Given the description of an element on the screen output the (x, y) to click on. 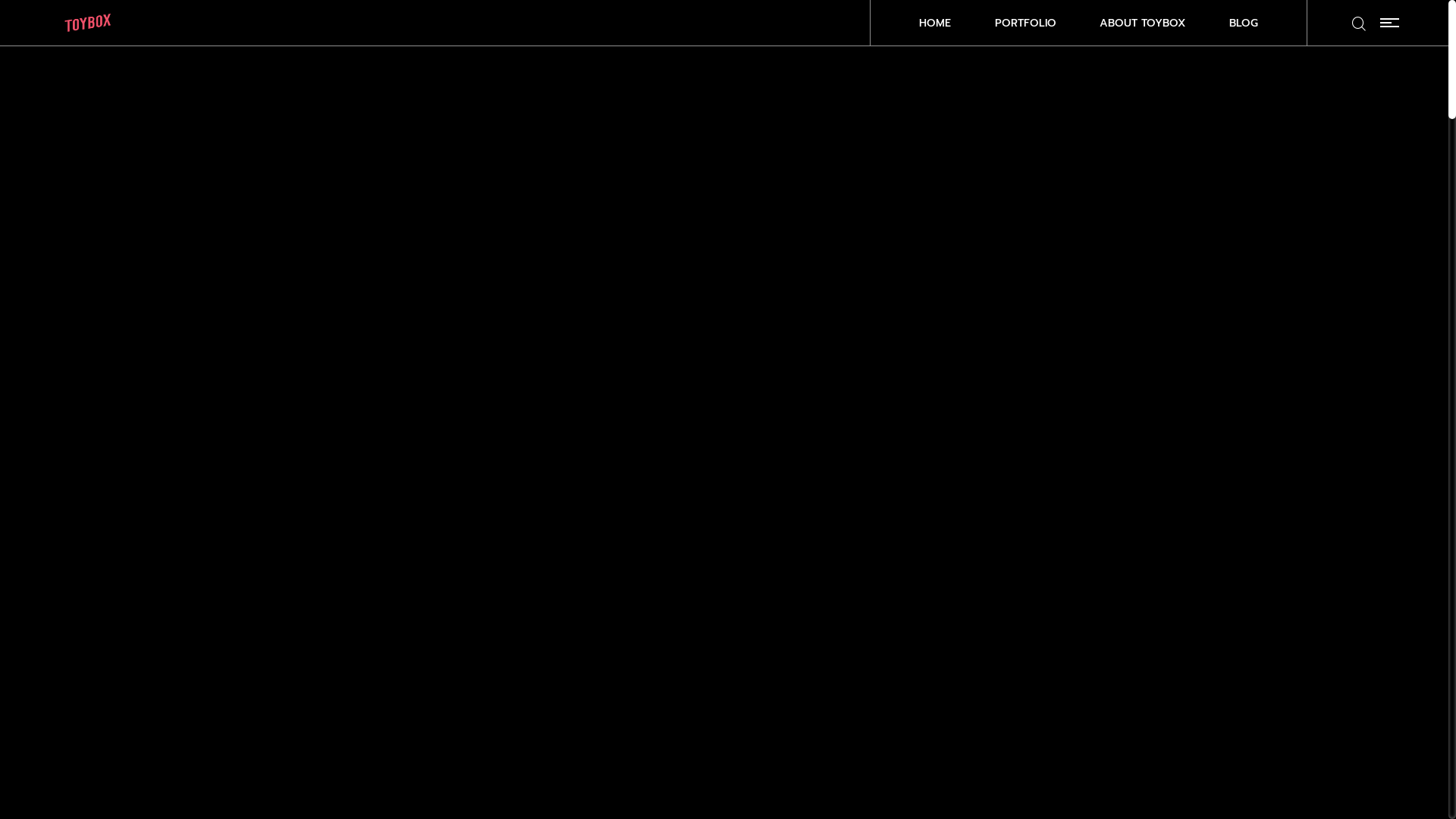
HOME Element type: text (934, 23)
BLOG Element type: text (1243, 23)
PORTFOLIO Element type: text (1025, 23)
ABOUT TOYBOX Element type: text (1142, 23)
